Given the description of an element on the screen output the (x, y) to click on. 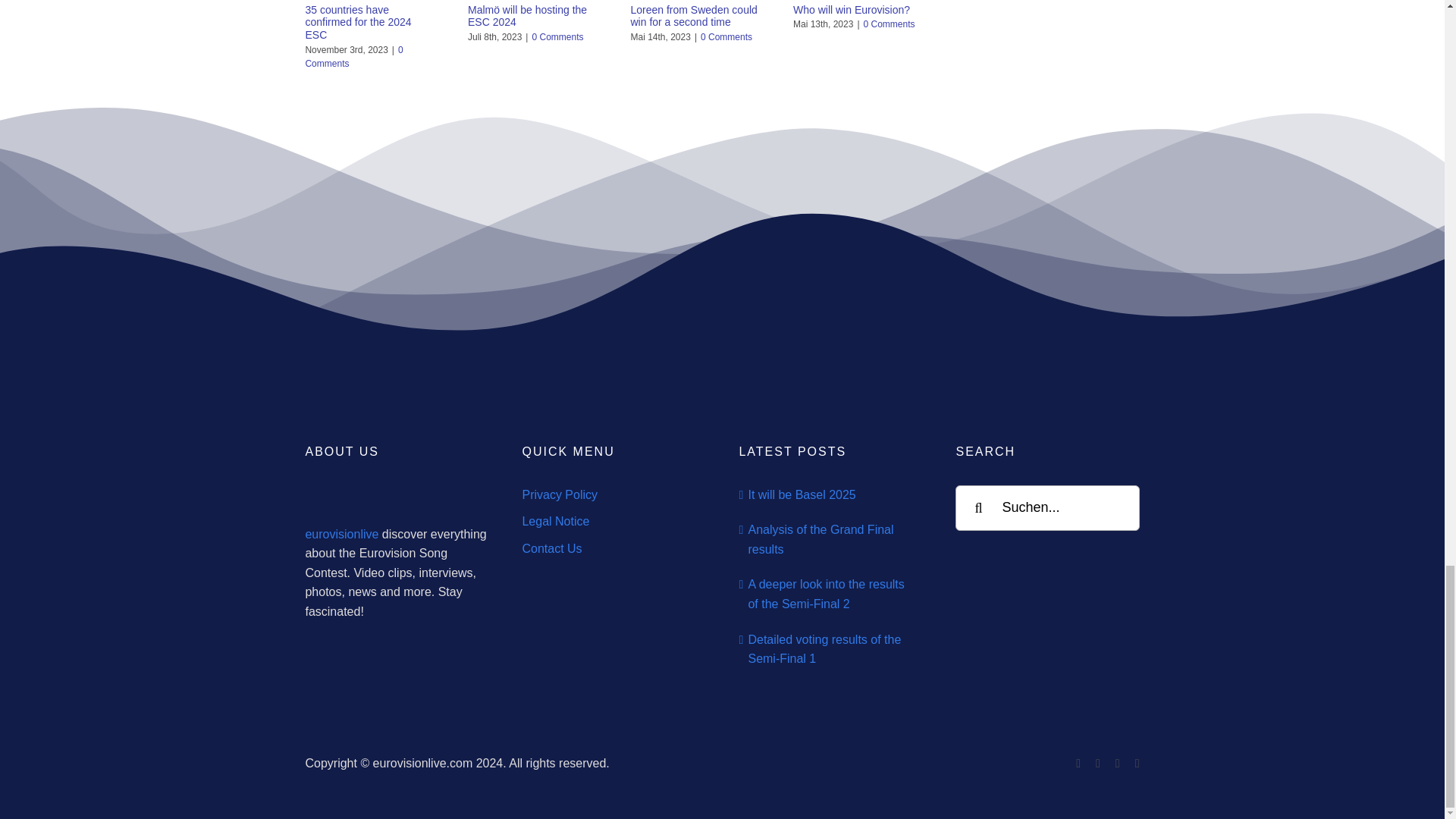
0 Comments (353, 56)
35 countries have confirmed for the 2024 ESC (357, 22)
Loreen from Sweden could win for a second time (693, 16)
0 Comments (726, 36)
0 Comments (557, 36)
